Given the description of an element on the screen output the (x, y) to click on. 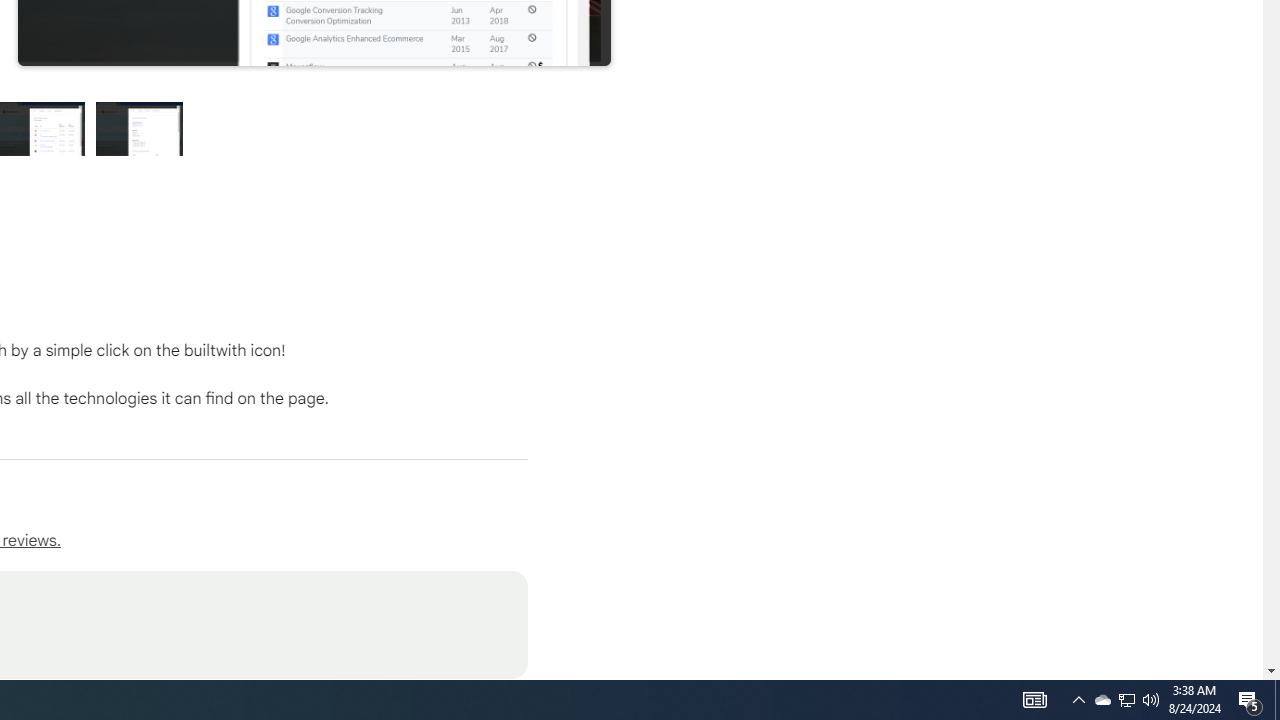
Action Center, 5 new notifications (1250, 699)
Notification Chevron (1126, 699)
Show desktop (1102, 699)
Preview slide 4 (1078, 699)
User Promoted Notification Area (1277, 699)
AutomationID: 4105 (140, 128)
Q2790: 100% (1126, 699)
